Given the description of an element on the screen output the (x, y) to click on. 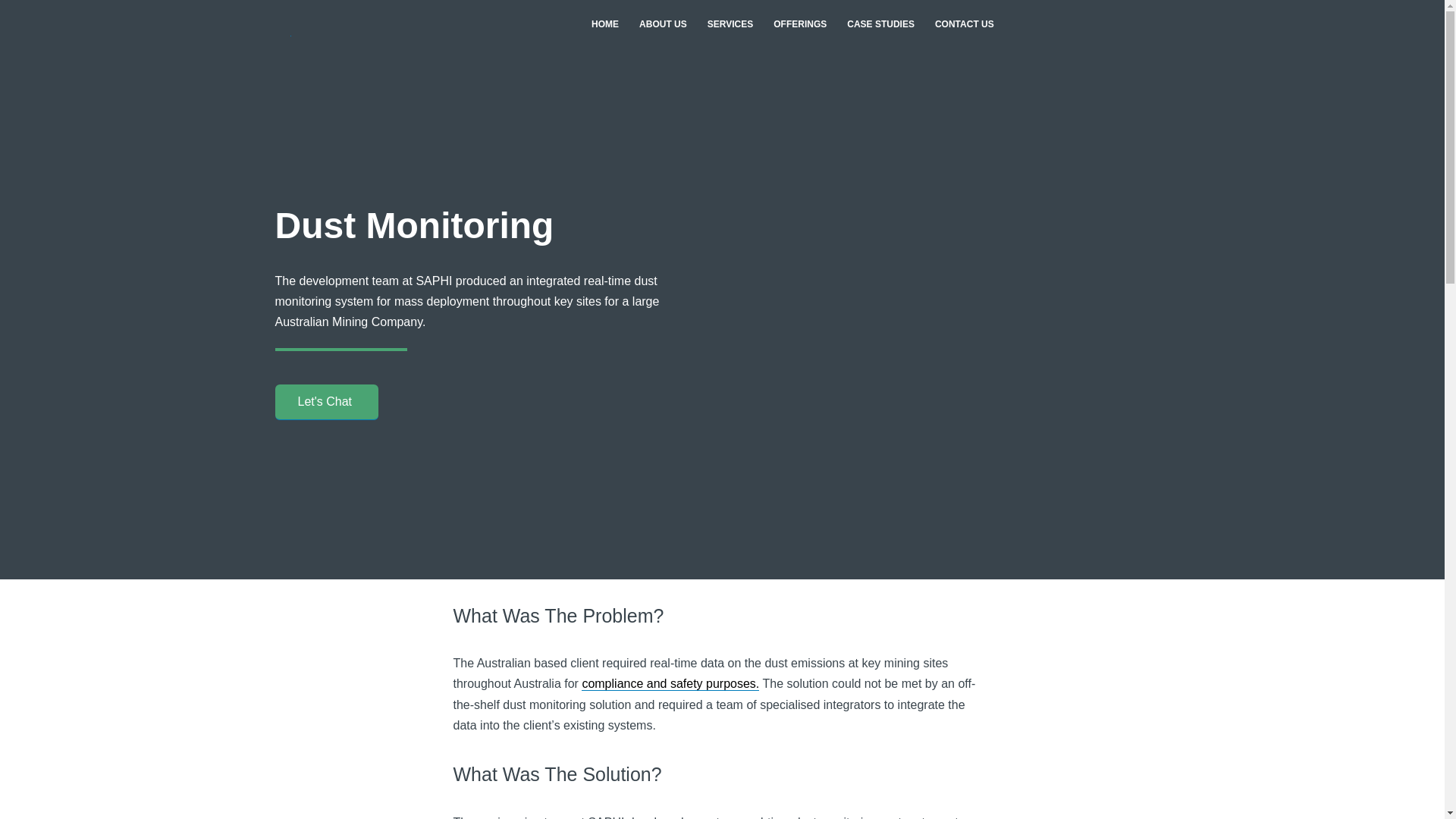
SERVICES (729, 24)
compliance and safety purposes. (669, 684)
CONTACT US (964, 24)
HOME (604, 24)
ABOUT US (663, 24)
Let'S Chat (326, 402)
OFFERINGS (800, 24)
CASE STUDIES (880, 24)
